Given the description of an element on the screen output the (x, y) to click on. 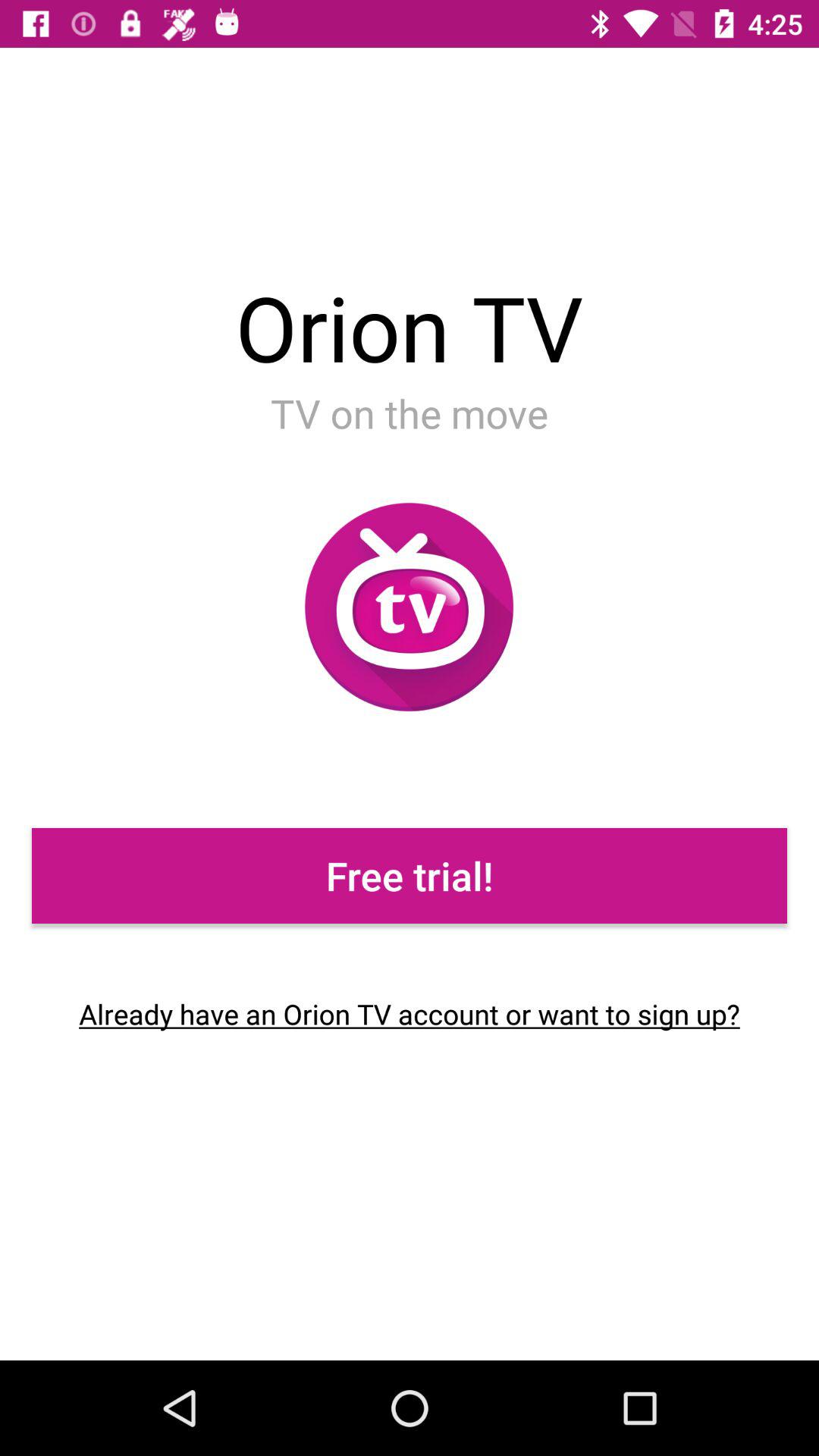
swipe until already have an icon (409, 1013)
